Given the description of an element on the screen output the (x, y) to click on. 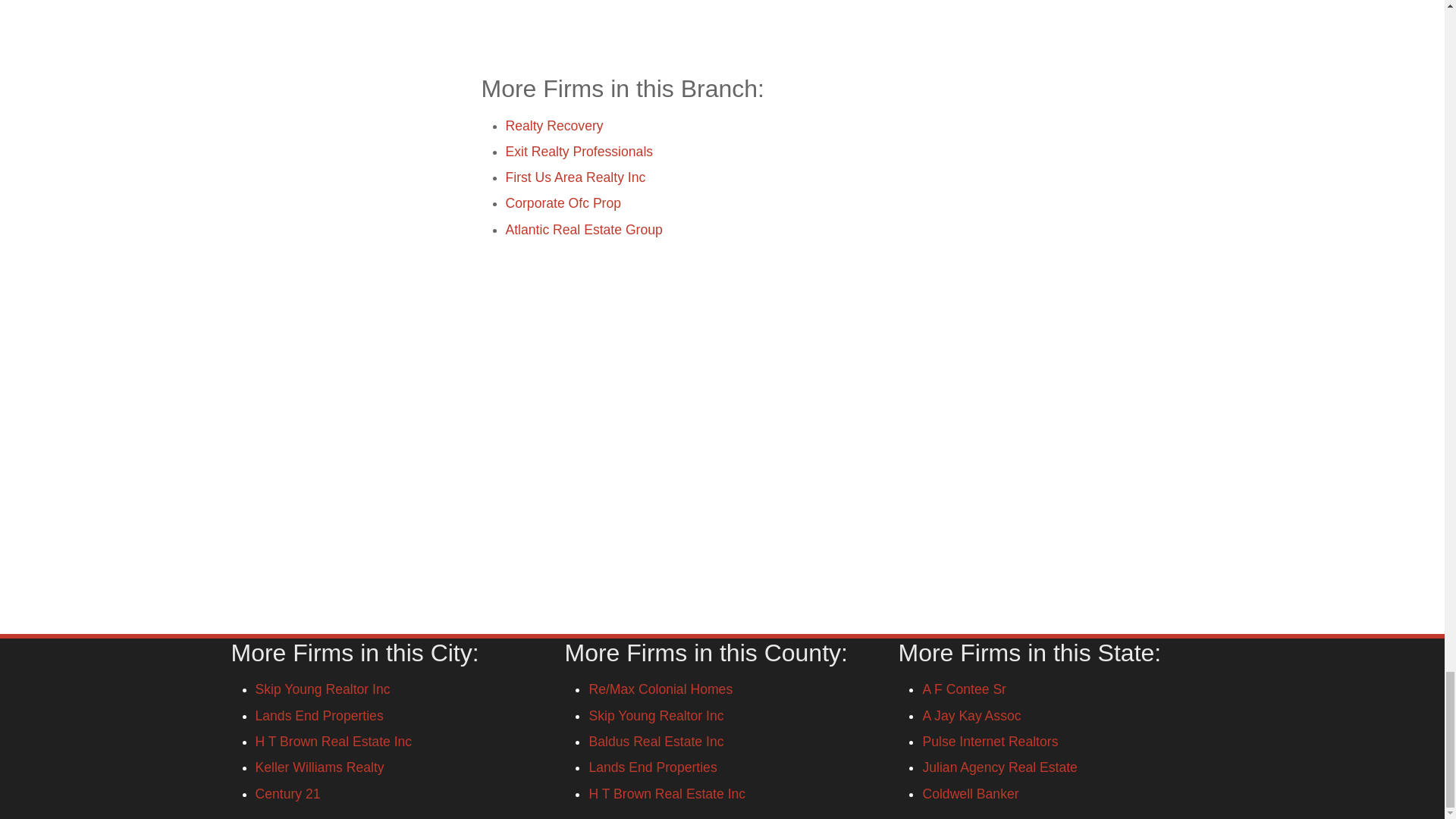
Realty Recovery (553, 125)
Corporate Ofc Prop (563, 202)
Atlantic Real Estate Group (583, 229)
Exit Realty Professionals (578, 151)
First Us Area Realty Inc (575, 177)
